Given the description of an element on the screen output the (x, y) to click on. 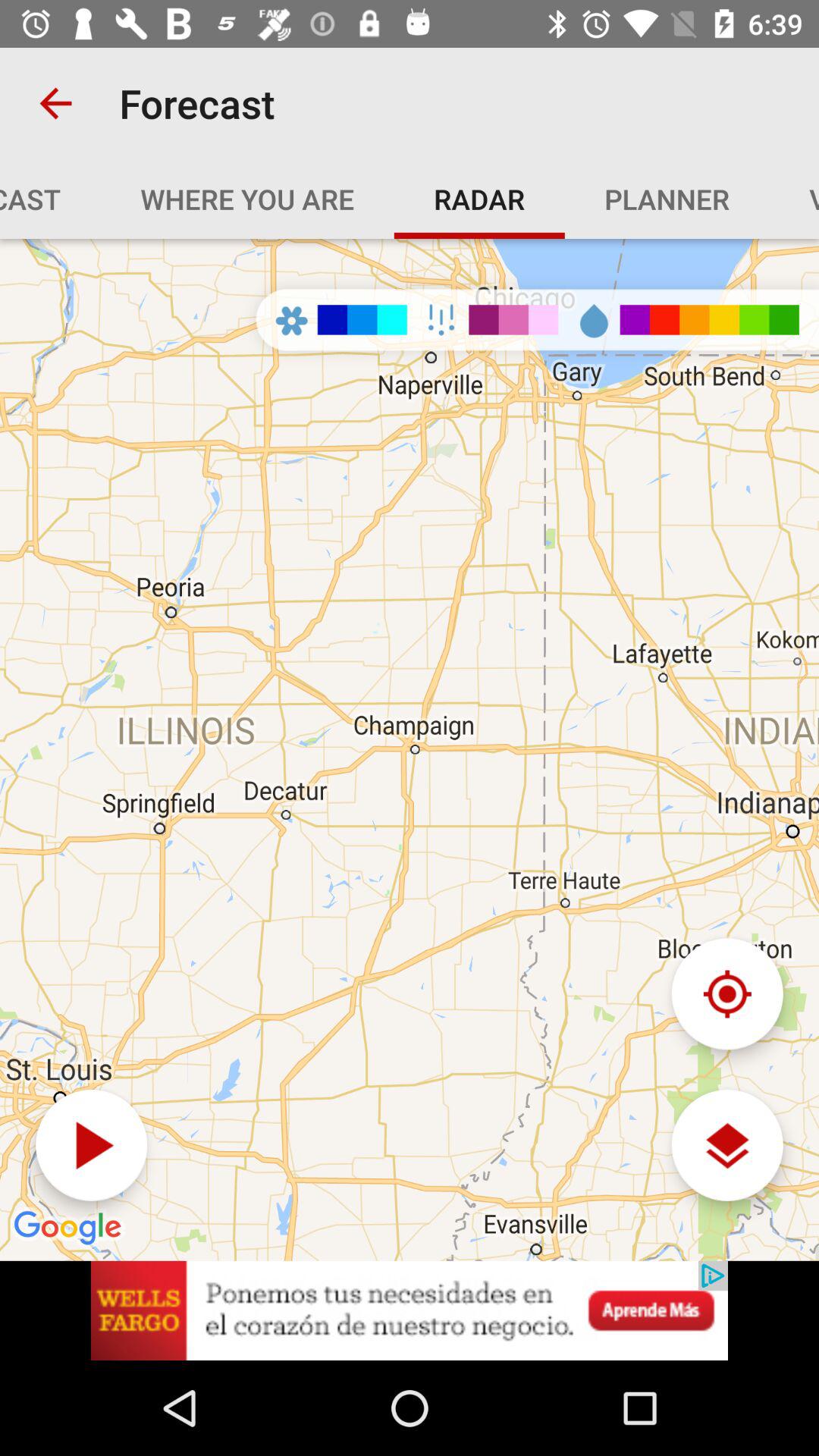
go next option (91, 1145)
